Given the description of an element on the screen output the (x, y) to click on. 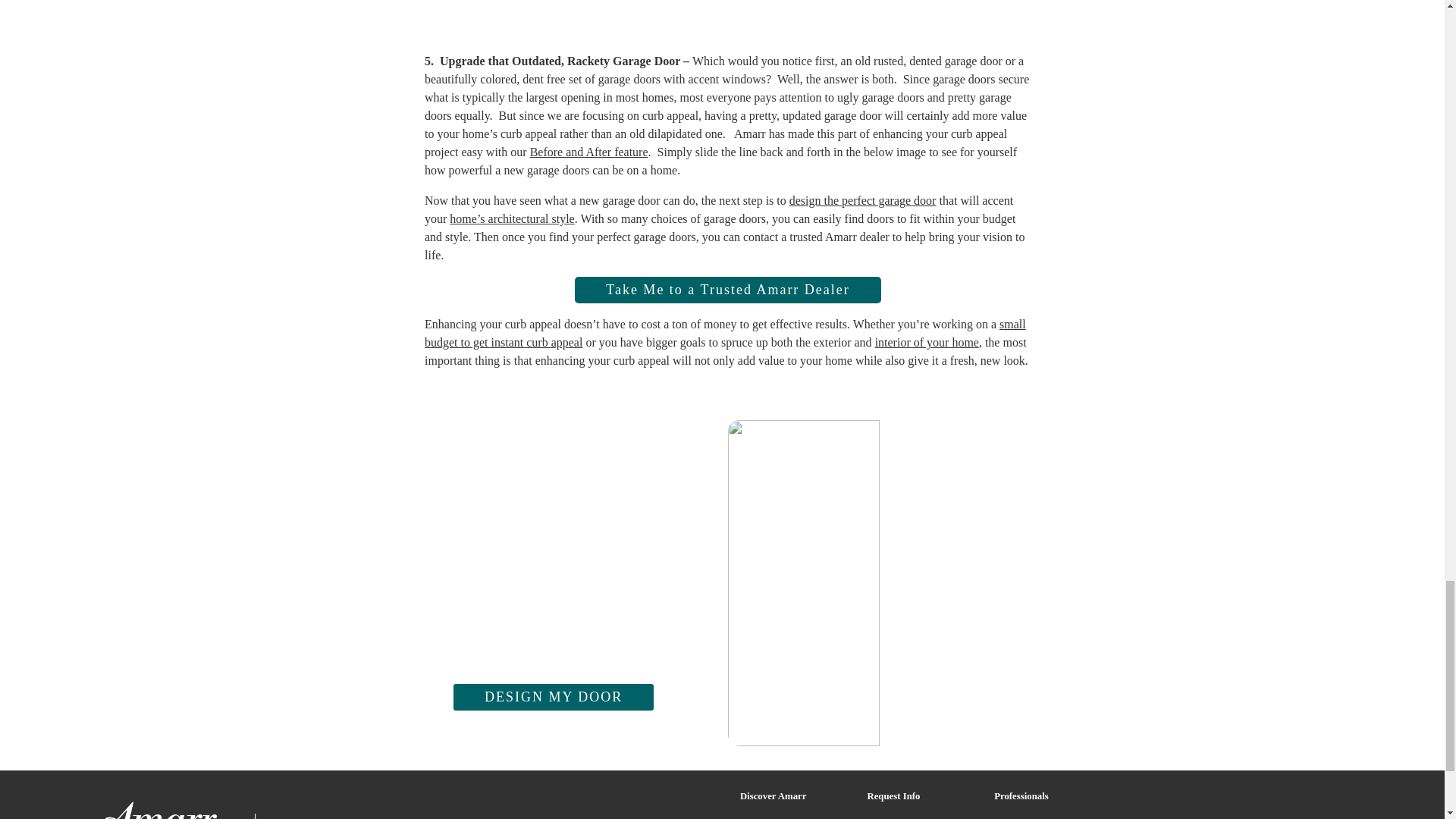
interior of your home (926, 341)
design the perfect garage door (862, 200)
Take Me to a Trusted Amarr Dealer (727, 289)
Before and After feature (588, 151)
small budget to get instant curb appeal (725, 332)
